Given the description of an element on the screen output the (x, y) to click on. 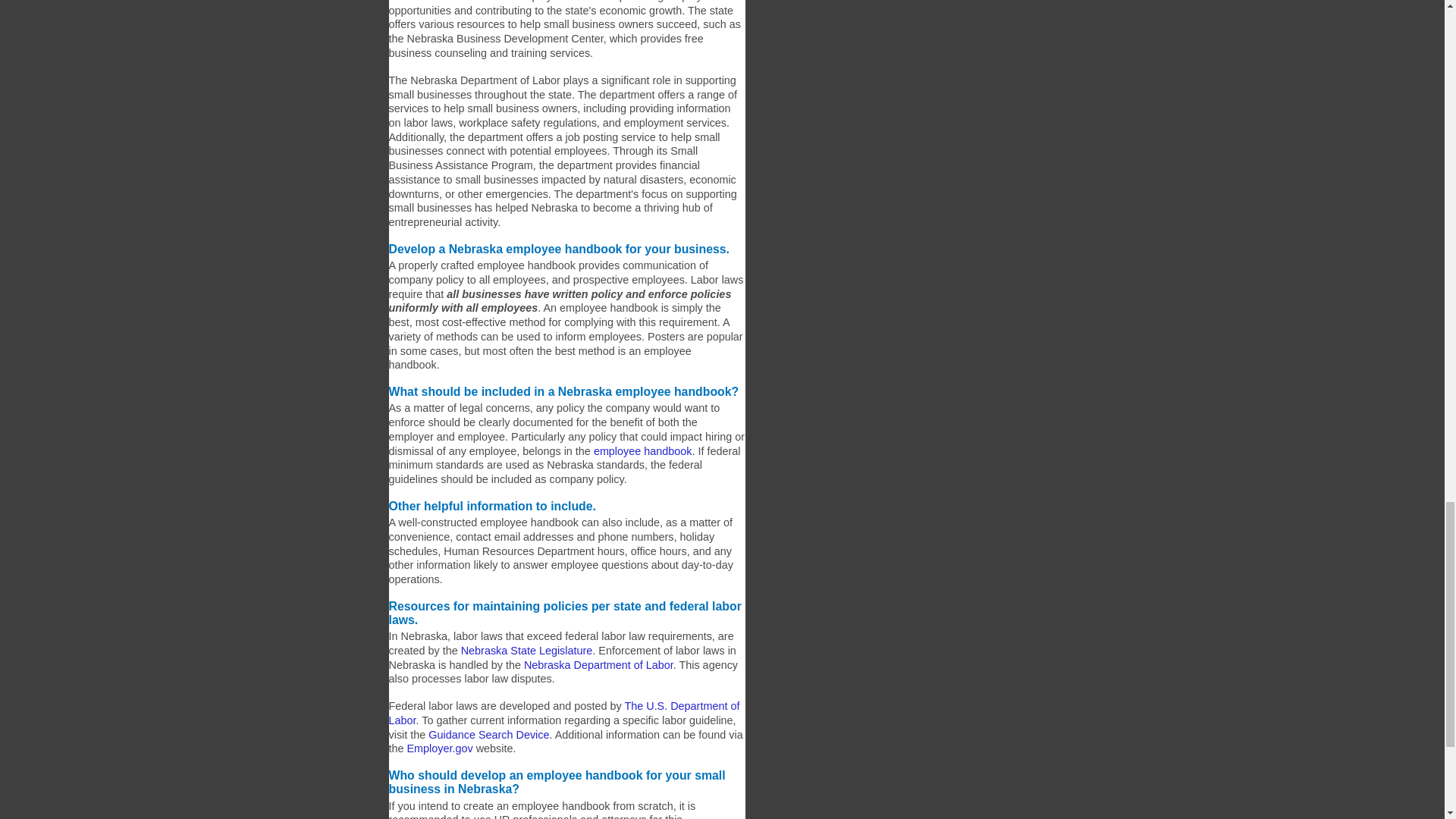
Guidance Search Device (488, 734)
Employer.gov (440, 748)
The U.S. Department of Labor (563, 713)
Nebraska Department of Labor (598, 664)
employee handbook (643, 451)
Nebraska State Legislature (526, 650)
